Given the description of an element on the screen output the (x, y) to click on. 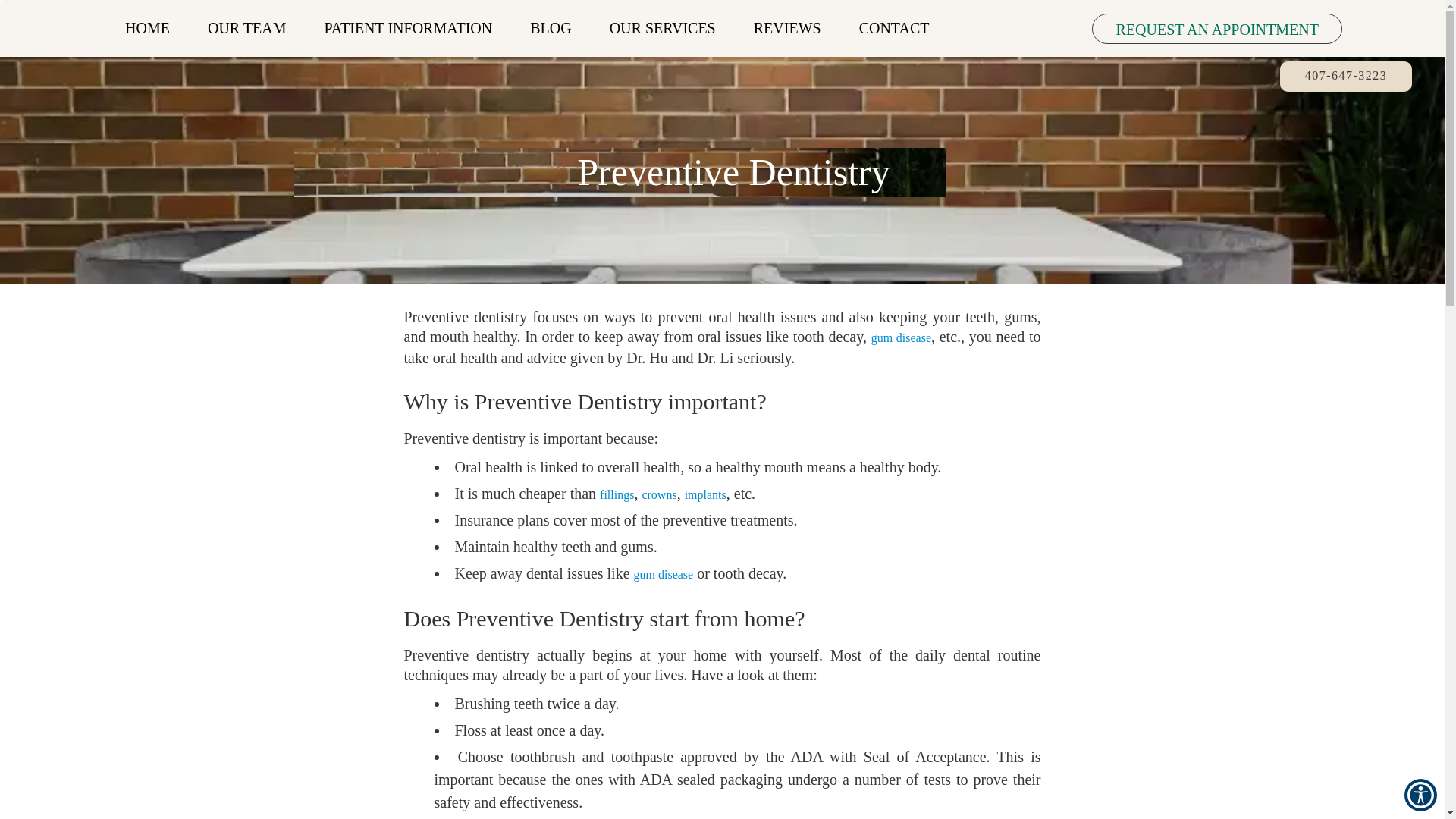
BLOG (550, 28)
HOME (146, 28)
OUR TEAM (247, 28)
CONTACT (893, 28)
PATIENT INFORMATION (408, 28)
OUR SERVICES (662, 28)
REVIEWS (787, 28)
